Given the description of an element on the screen output the (x, y) to click on. 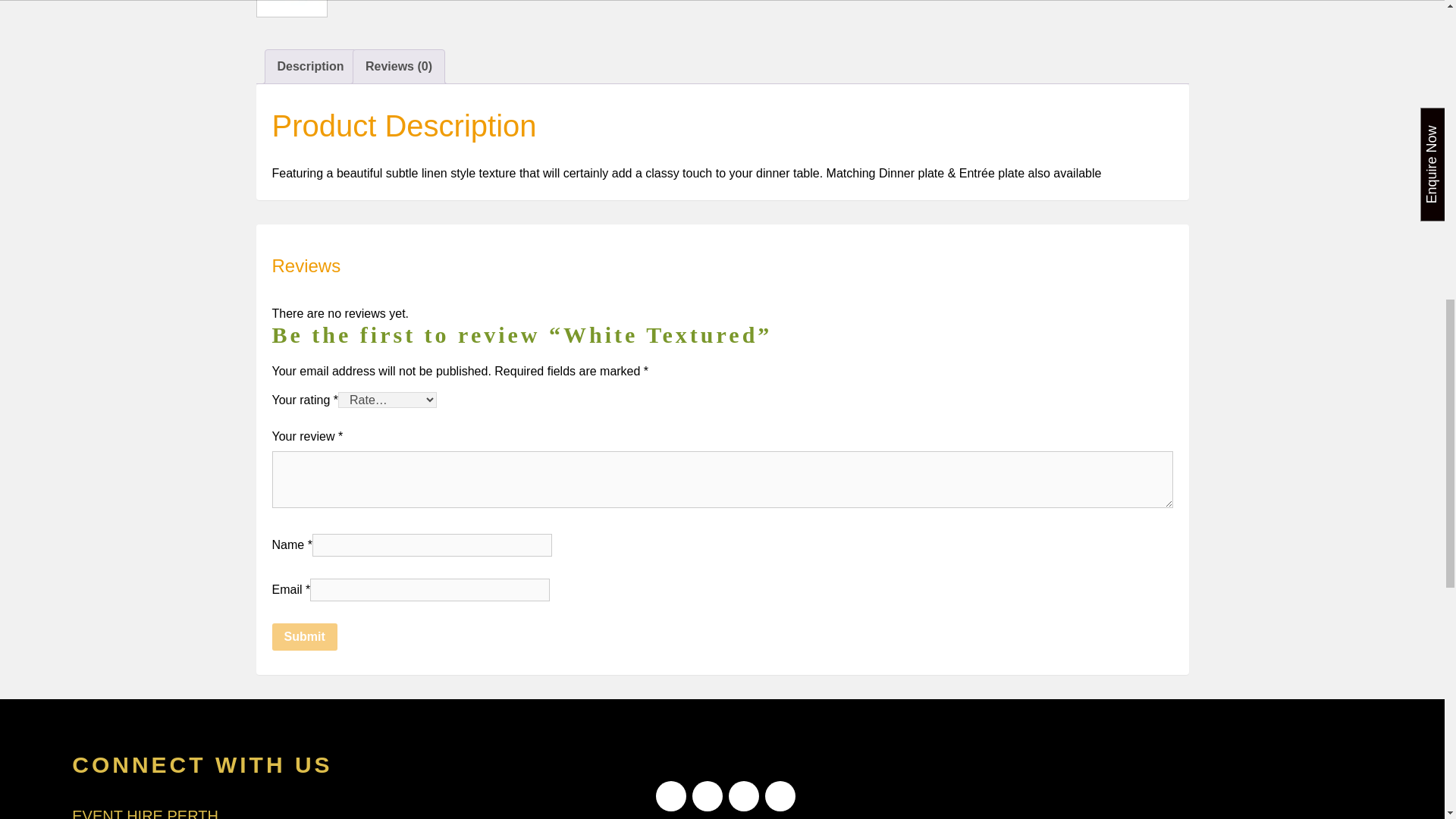
BlackLabel-Texturesmallbowl (291, 8)
Submit (303, 636)
